Given the description of an element on the screen output the (x, y) to click on. 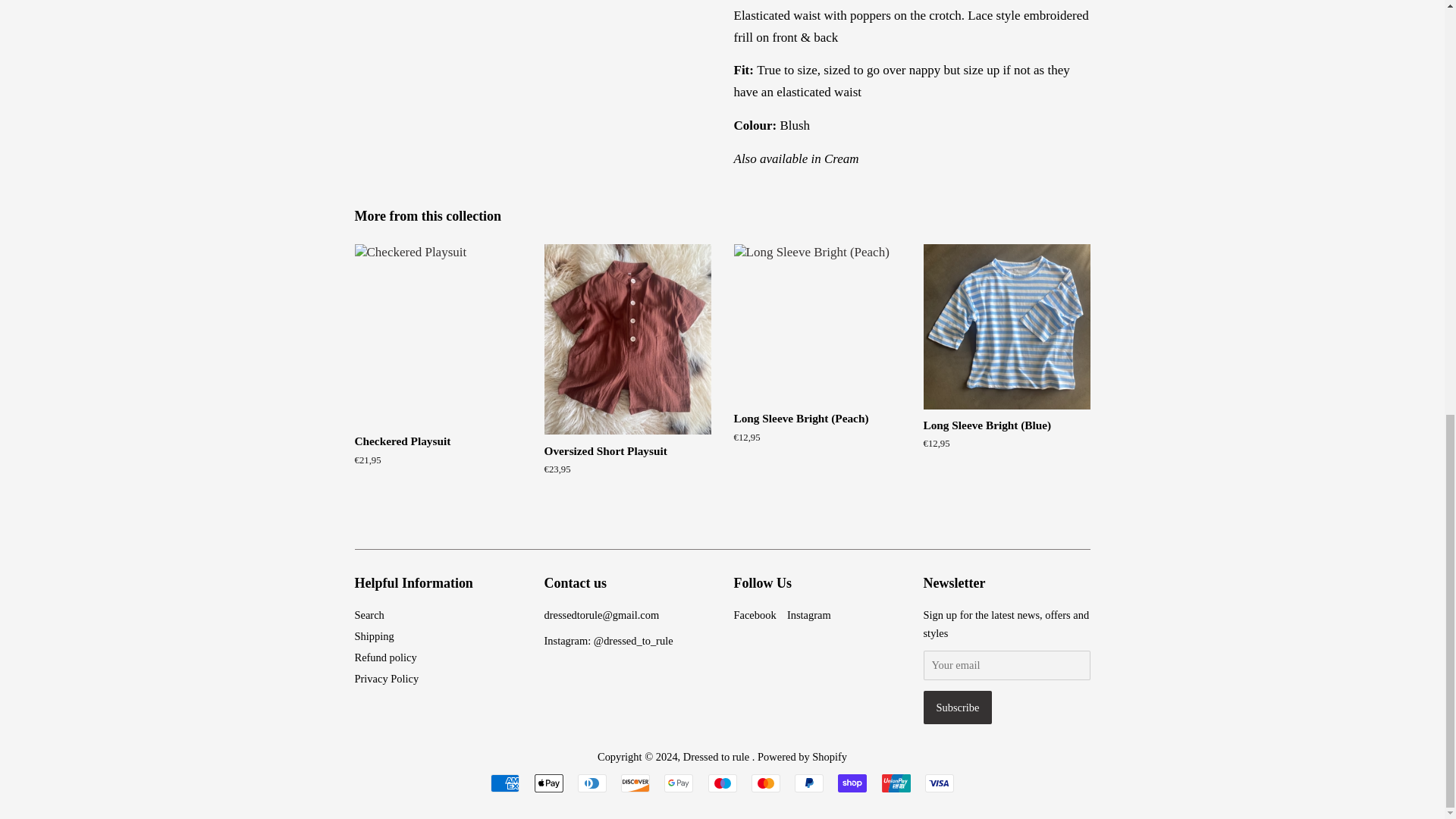
Google Pay (678, 782)
Visa (938, 782)
Union Pay (895, 782)
Apple Pay (548, 782)
Dressed to rule  on Instagram (809, 614)
American Express (504, 782)
Subscribe (957, 707)
Mastercard (765, 782)
Diners Club (592, 782)
Maestro (721, 782)
